Given the description of an element on the screen output the (x, y) to click on. 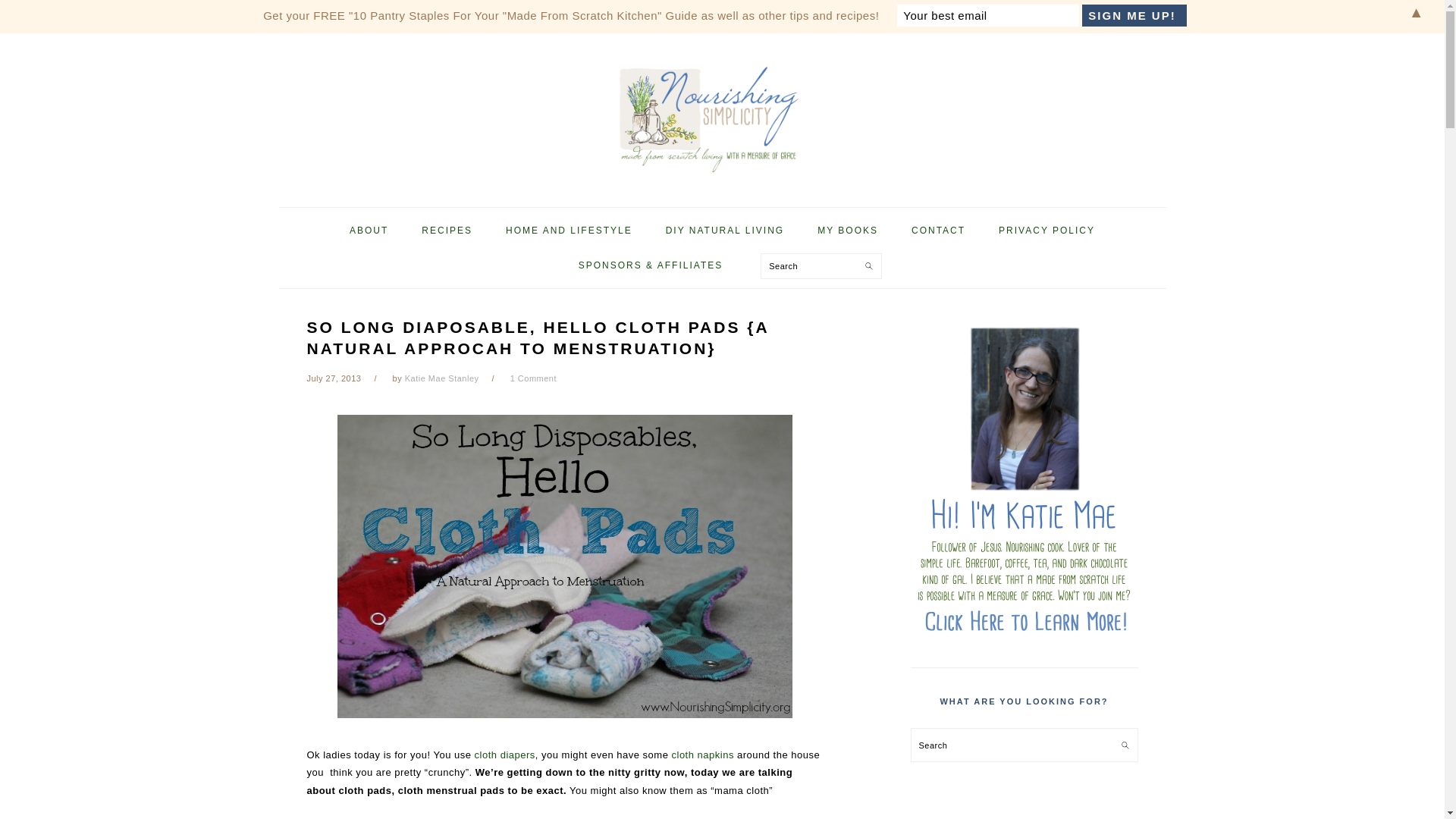
HOME AND LIFESTYLE (568, 230)
PRIVACY POLICY (1046, 230)
1 Comment (533, 378)
DIY NATURAL LIVING (724, 230)
Katie Mae Stanley (441, 378)
RECIPES (446, 230)
cloth diapers (504, 754)
Sign Me Up!  (1134, 15)
MY BOOKS (847, 230)
